Given the description of an element on the screen output the (x, y) to click on. 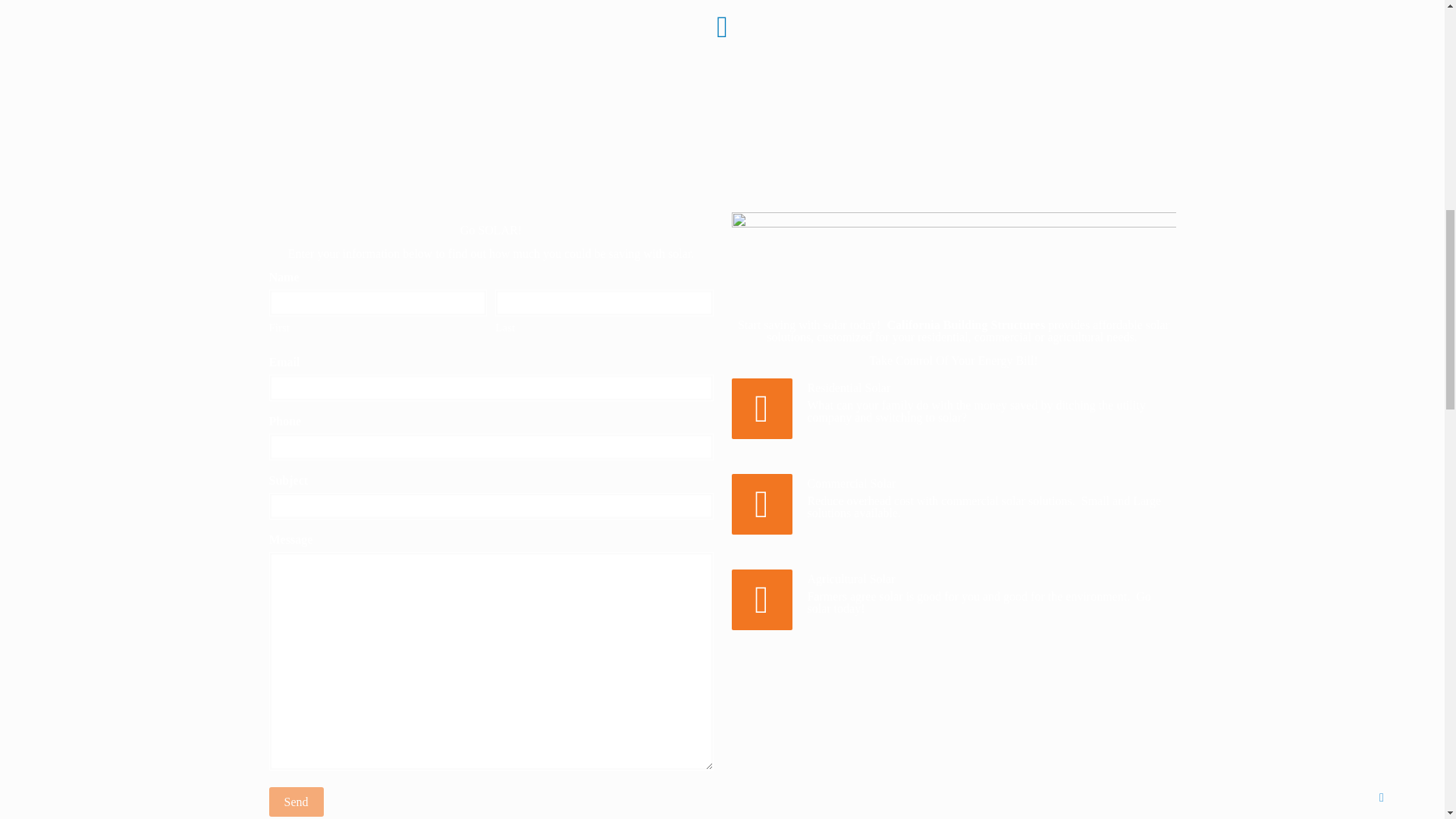
Send (295, 801)
Send (295, 801)
